Given the description of an element on the screen output the (x, y) to click on. 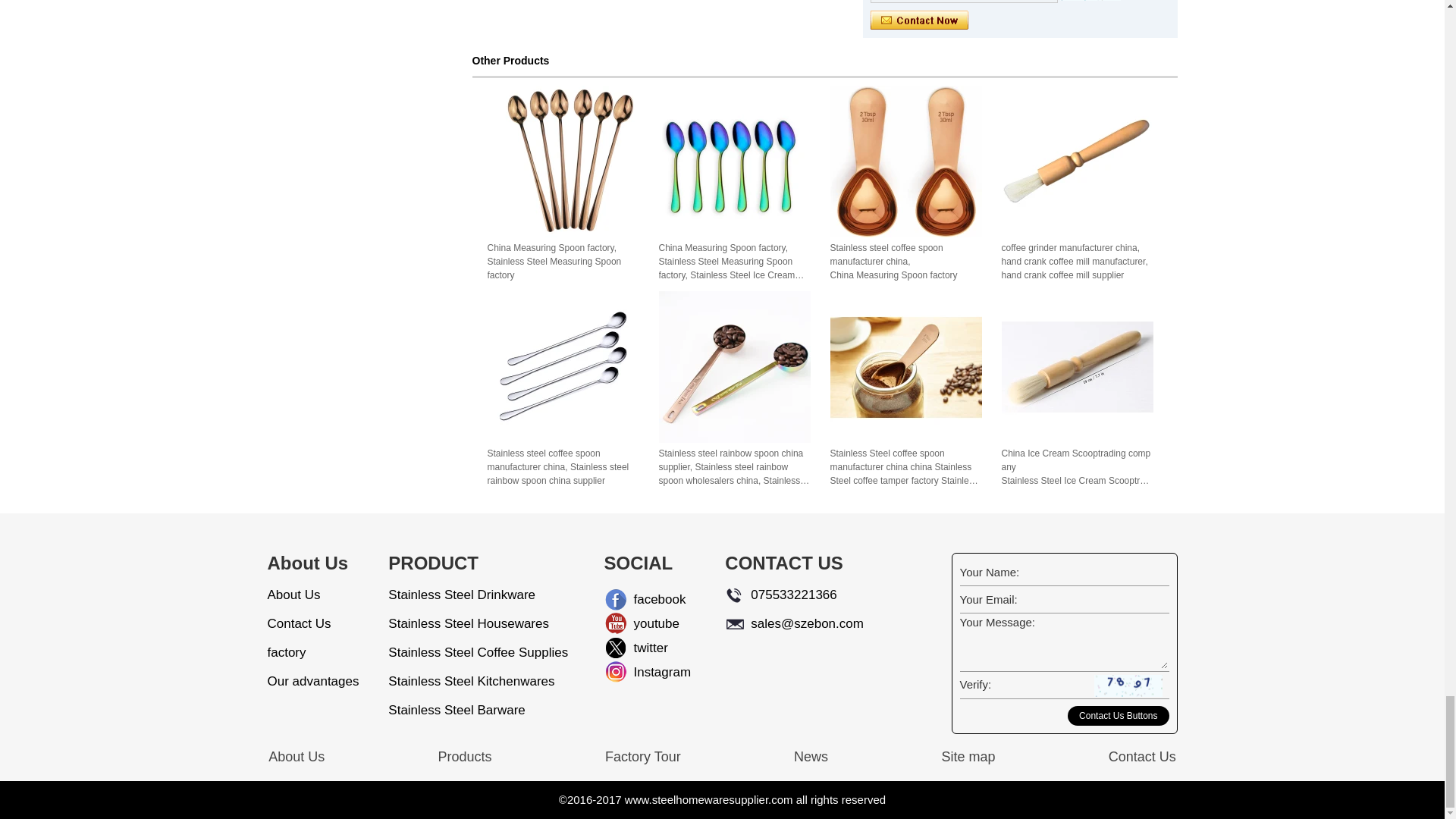
Contact Now (919, 20)
